Given the description of an element on the screen output the (x, y) to click on. 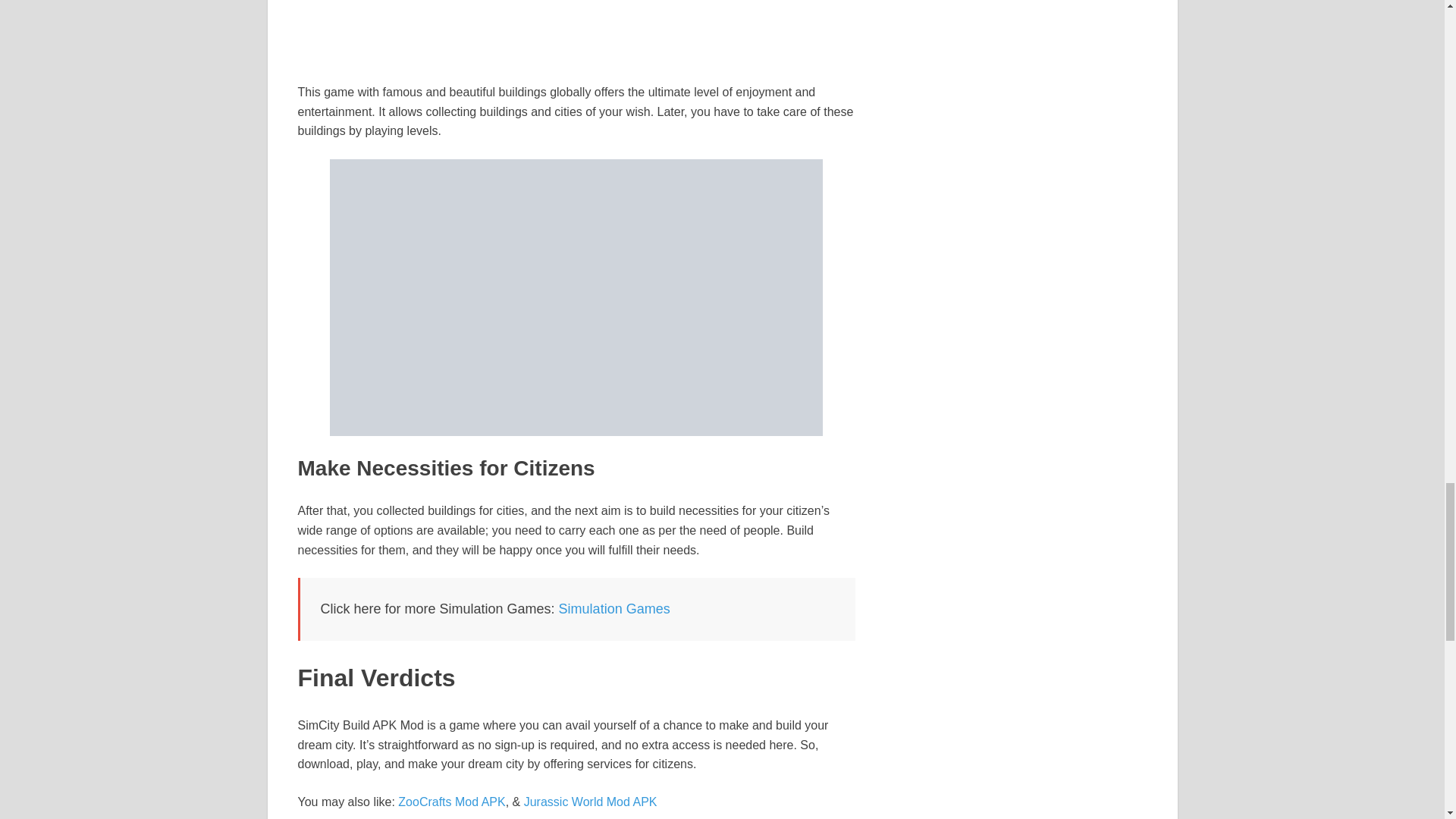
Simulation Games (614, 608)
ZooCrafts Mod APK (451, 801)
Jurassic World Mod APK (591, 801)
